Given the description of an element on the screen output the (x, y) to click on. 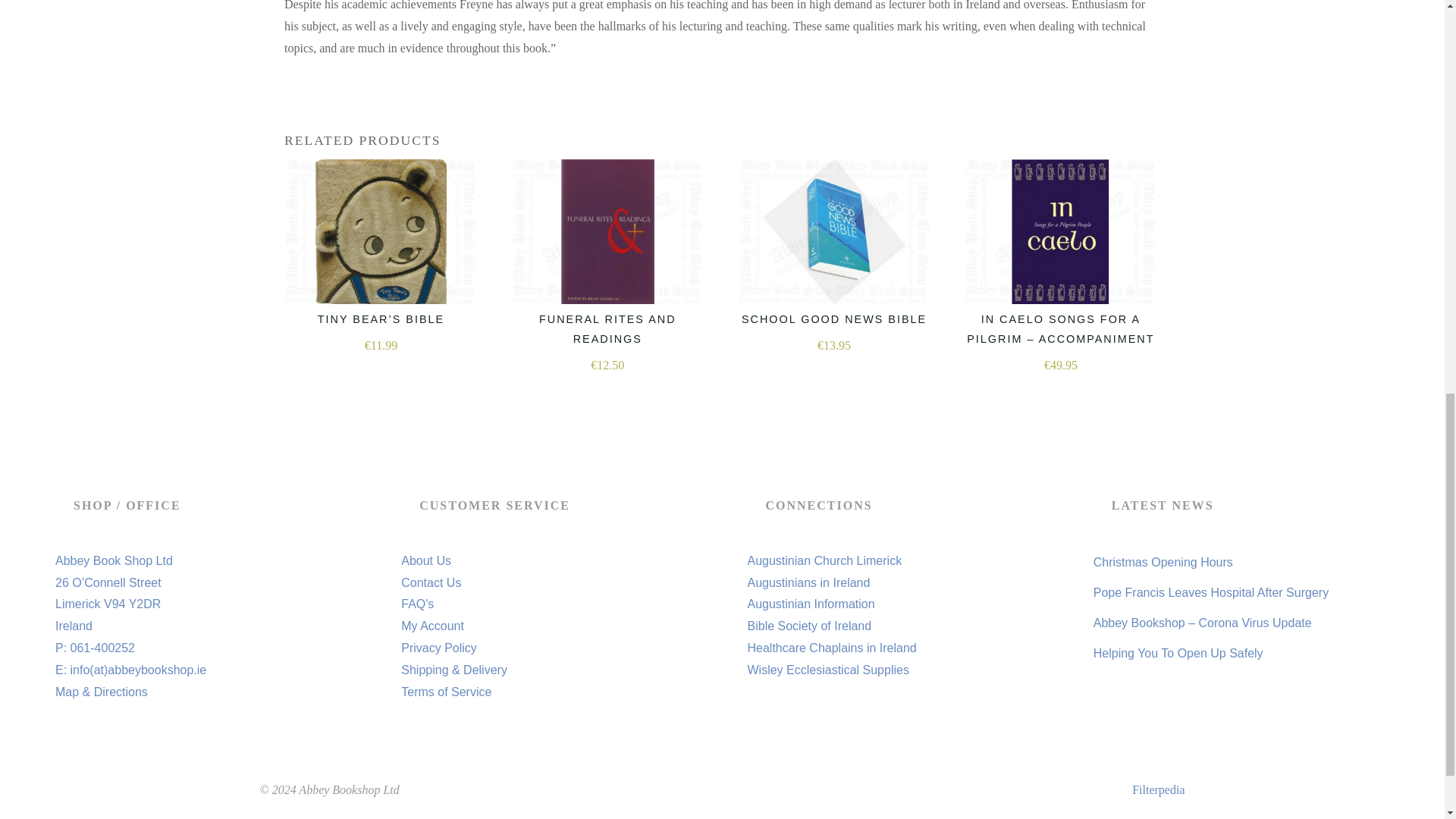
Facebook (1134, 816)
Augustinian Church (825, 560)
Ecclesiastical Supplies (828, 669)
